Given the description of an element on the screen output the (x, y) to click on. 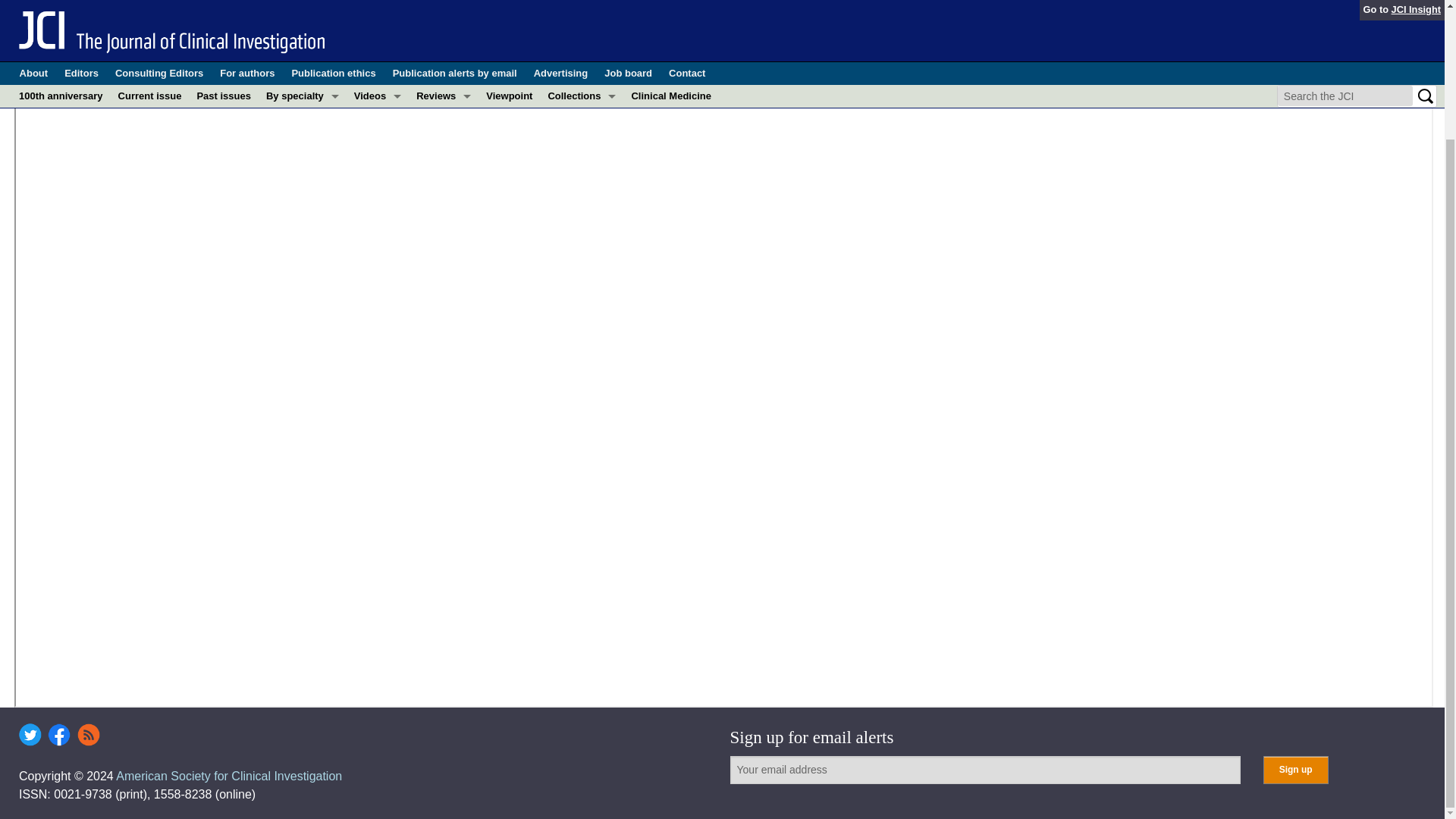
Twitter (30, 734)
Gastroenterology (302, 9)
Neuroscience (302, 97)
Sign up (1295, 769)
Vascular biology (302, 166)
Facebook (58, 734)
Nephrology (302, 75)
View all review series ... (444, 182)
Pulmonology (302, 143)
All ... (302, 189)
